Given the description of an element on the screen output the (x, y) to click on. 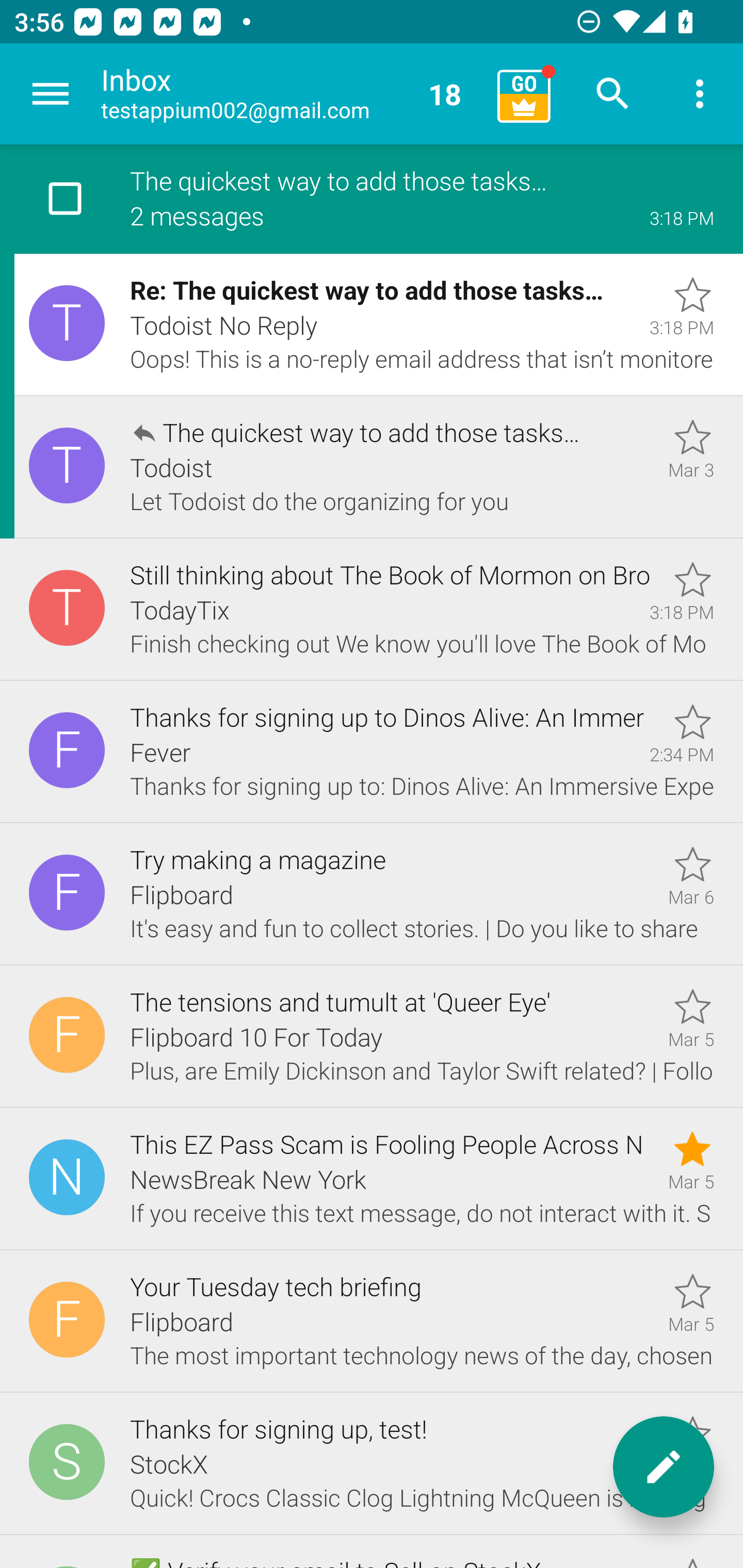
Navigate up (50, 93)
Inbox testappium002@gmail.com 18 (291, 93)
Search (612, 93)
More options (699, 93)
New message (663, 1466)
